Given the description of an element on the screen output the (x, y) to click on. 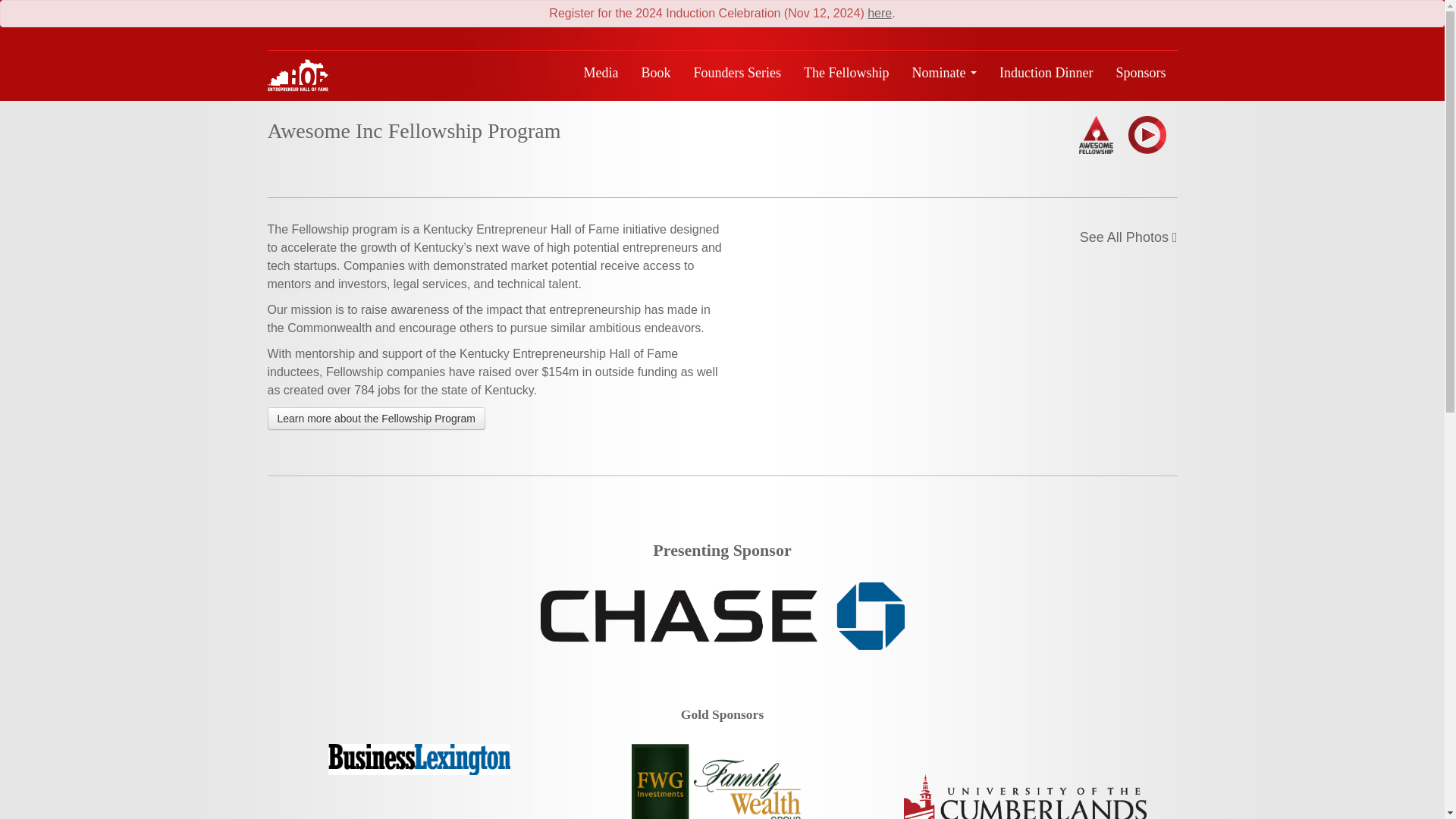
See All Photos (1128, 237)
The Fellowship (846, 72)
here (879, 12)
Learn more about the Fellowship Program (375, 418)
Nominate (944, 72)
Book (656, 72)
Sponsors (1139, 72)
Founders Series (737, 72)
Induction Dinner (1045, 72)
Media (601, 72)
